Given the description of an element on the screen output the (x, y) to click on. 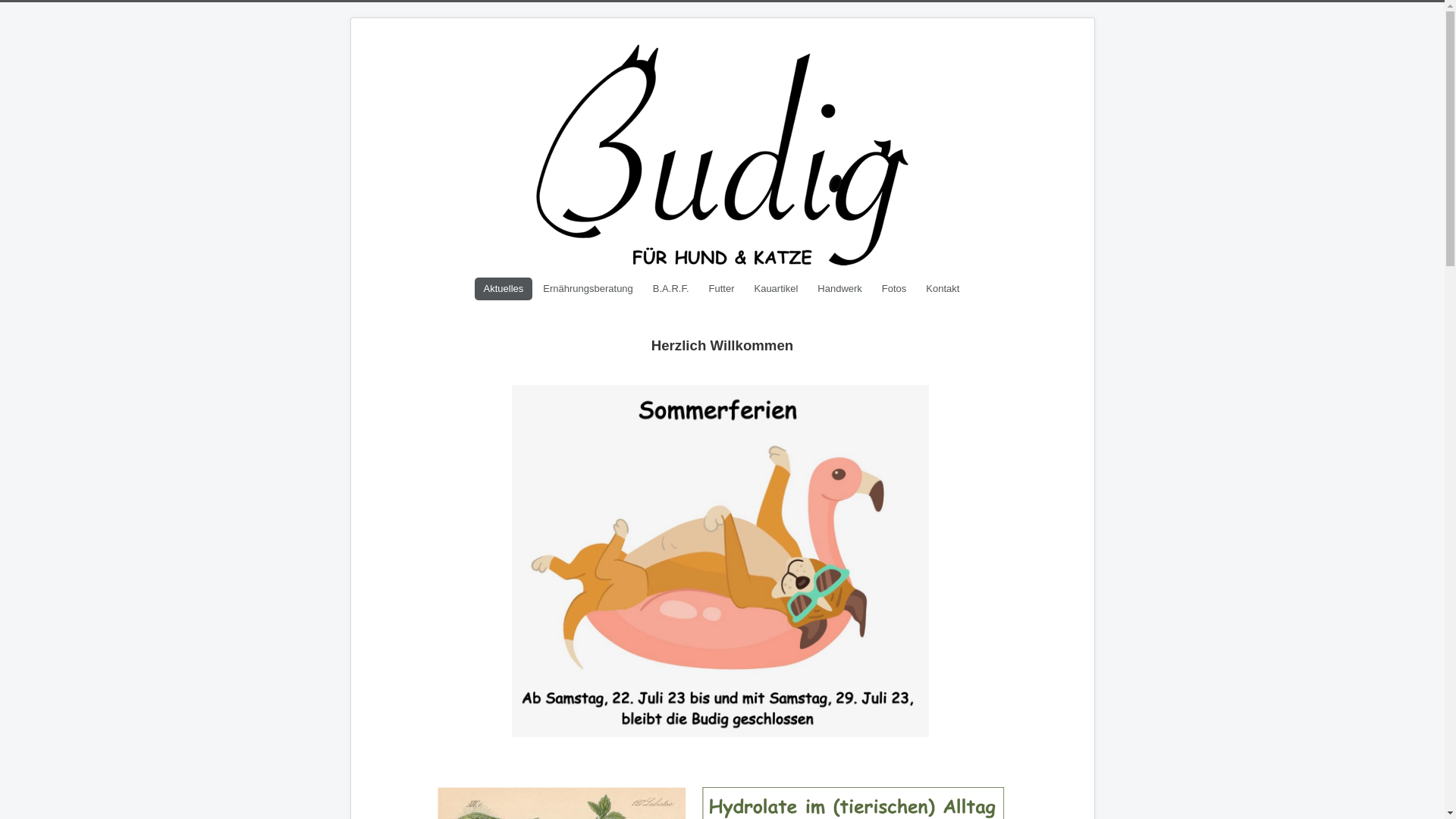
B.A.R.F. Element type: text (670, 288)
Kontakt Element type: text (942, 288)
Futter Element type: text (721, 288)
Handwerk Element type: text (839, 288)
Kauartikel Element type: text (775, 288)
Fotos Element type: text (894, 288)
Aktuelles Element type: text (503, 288)
